Given the description of an element on the screen output the (x, y) to click on. 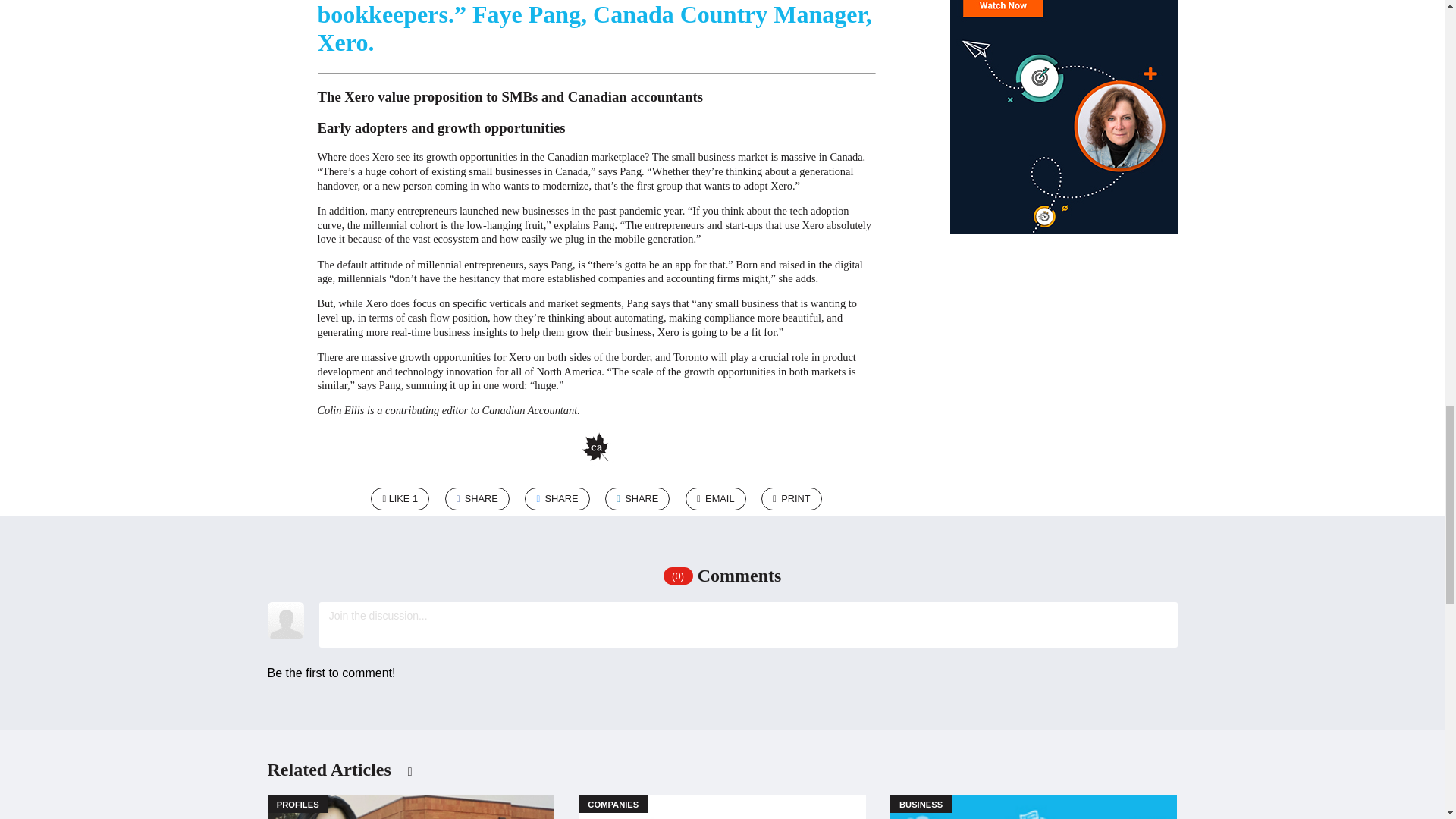
Dext Protect Your Time On-Demand Webina (1062, 130)
